Given the description of an element on the screen output the (x, y) to click on. 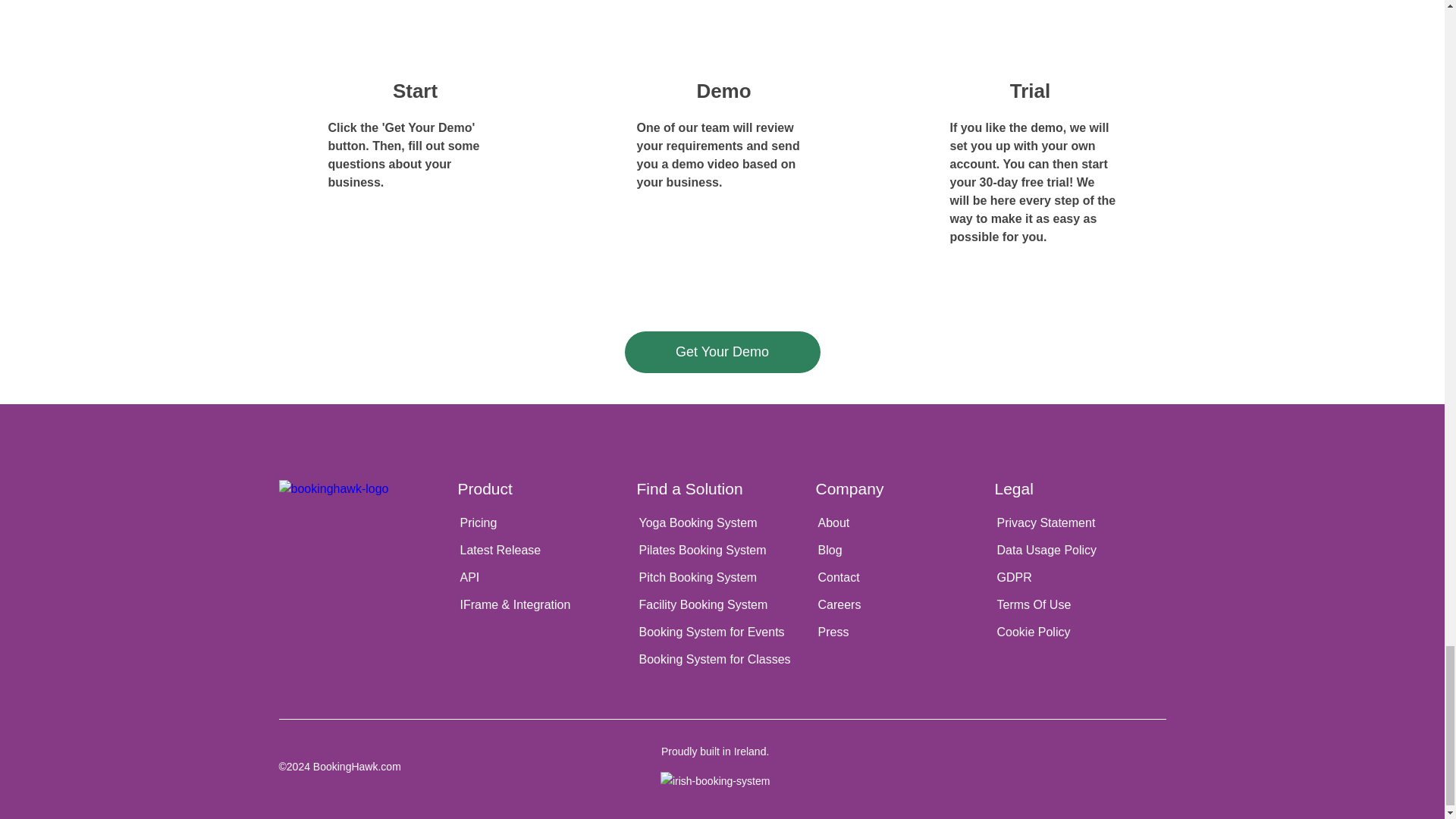
Get Your Demo (722, 351)
Cookie Policy (1080, 632)
Yoga Booking System (722, 523)
About (901, 523)
Contact (901, 577)
Latest Release (543, 550)
Careers (901, 605)
Facility Booking System (722, 605)
API (543, 577)
Booking System for Events (722, 632)
Pitch Booking System (722, 577)
Privacy Statement (1080, 523)
Pricing (543, 523)
Blog (901, 550)
Booking System for Classes (722, 659)
